Given the description of an element on the screen output the (x, y) to click on. 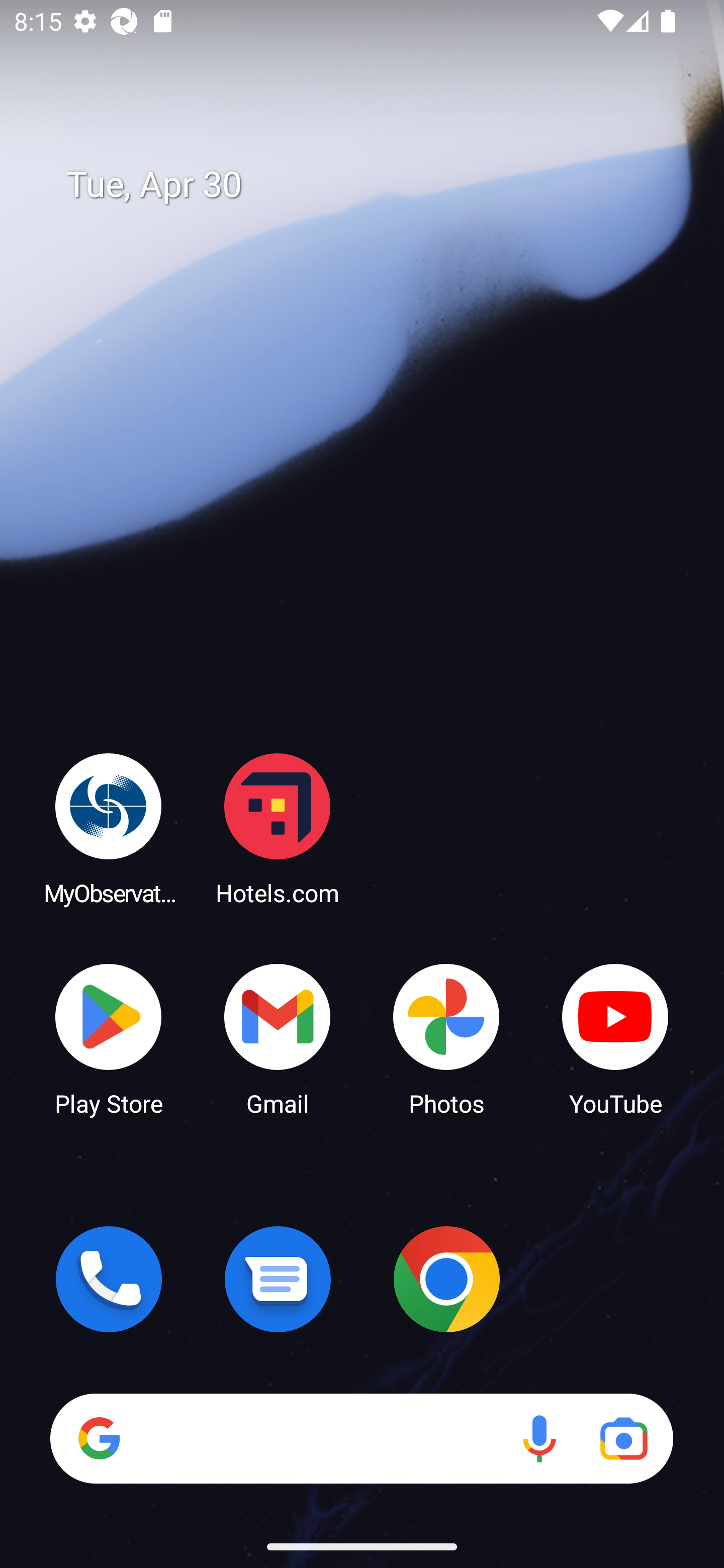
Tue, Apr 30 (375, 184)
MyObservatory (108, 828)
Hotels.com (277, 828)
Play Store (108, 1038)
Gmail (277, 1038)
Photos (445, 1038)
YouTube (615, 1038)
Phone (108, 1279)
Messages (277, 1279)
Chrome (446, 1279)
Voice search (539, 1438)
Google Lens (623, 1438)
